Given the description of an element on the screen output the (x, y) to click on. 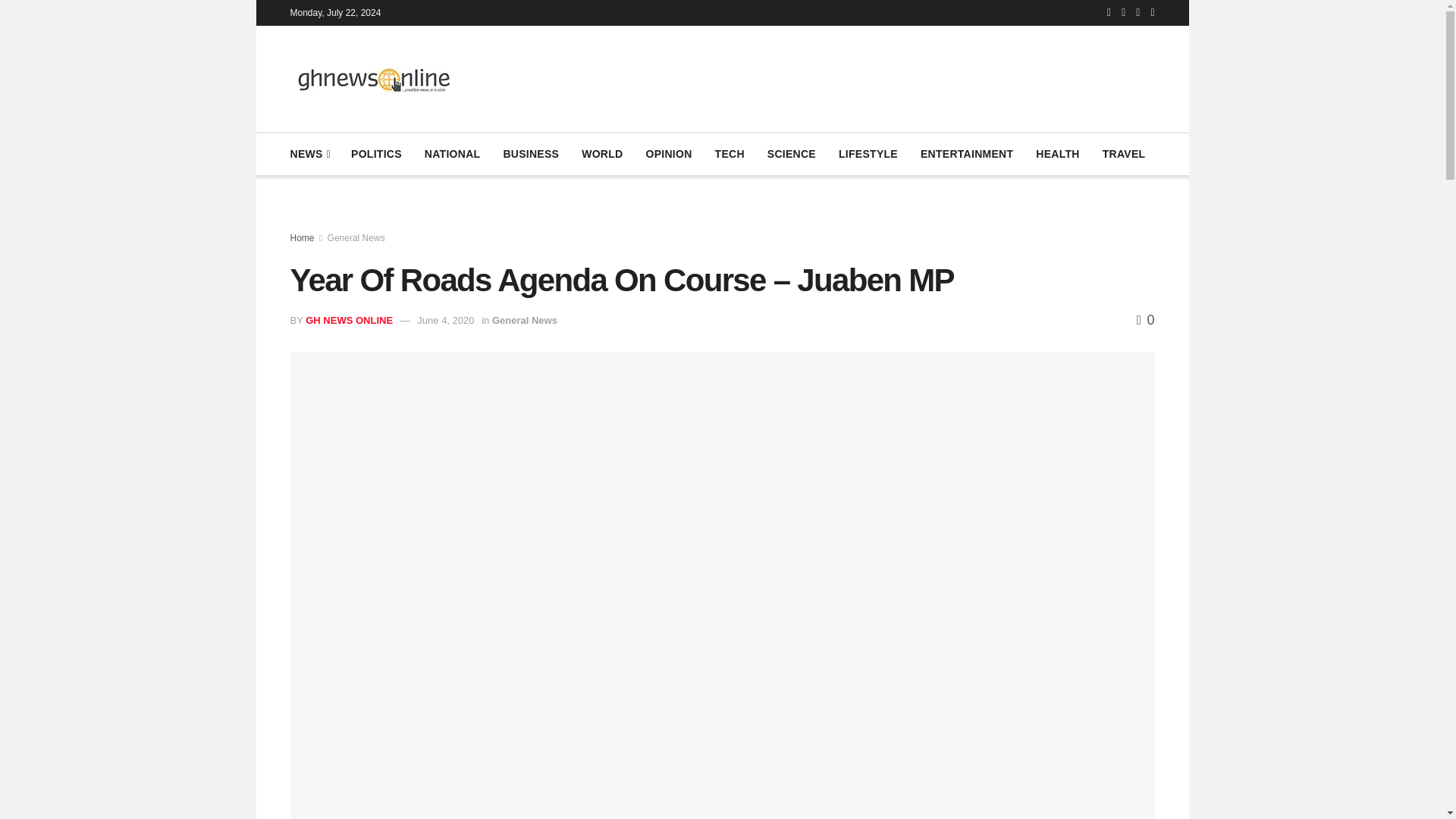
POLITICS (375, 153)
NATIONAL (452, 153)
WORLD (601, 153)
NEWS (309, 153)
BUSINESS (530, 153)
ENTERTAINMENT (966, 153)
LIFESTYLE (868, 153)
TRAVEL (1123, 153)
OPINION (668, 153)
SCIENCE (791, 153)
HEALTH (1056, 153)
TECH (729, 153)
